Given the description of an element on the screen output the (x, y) to click on. 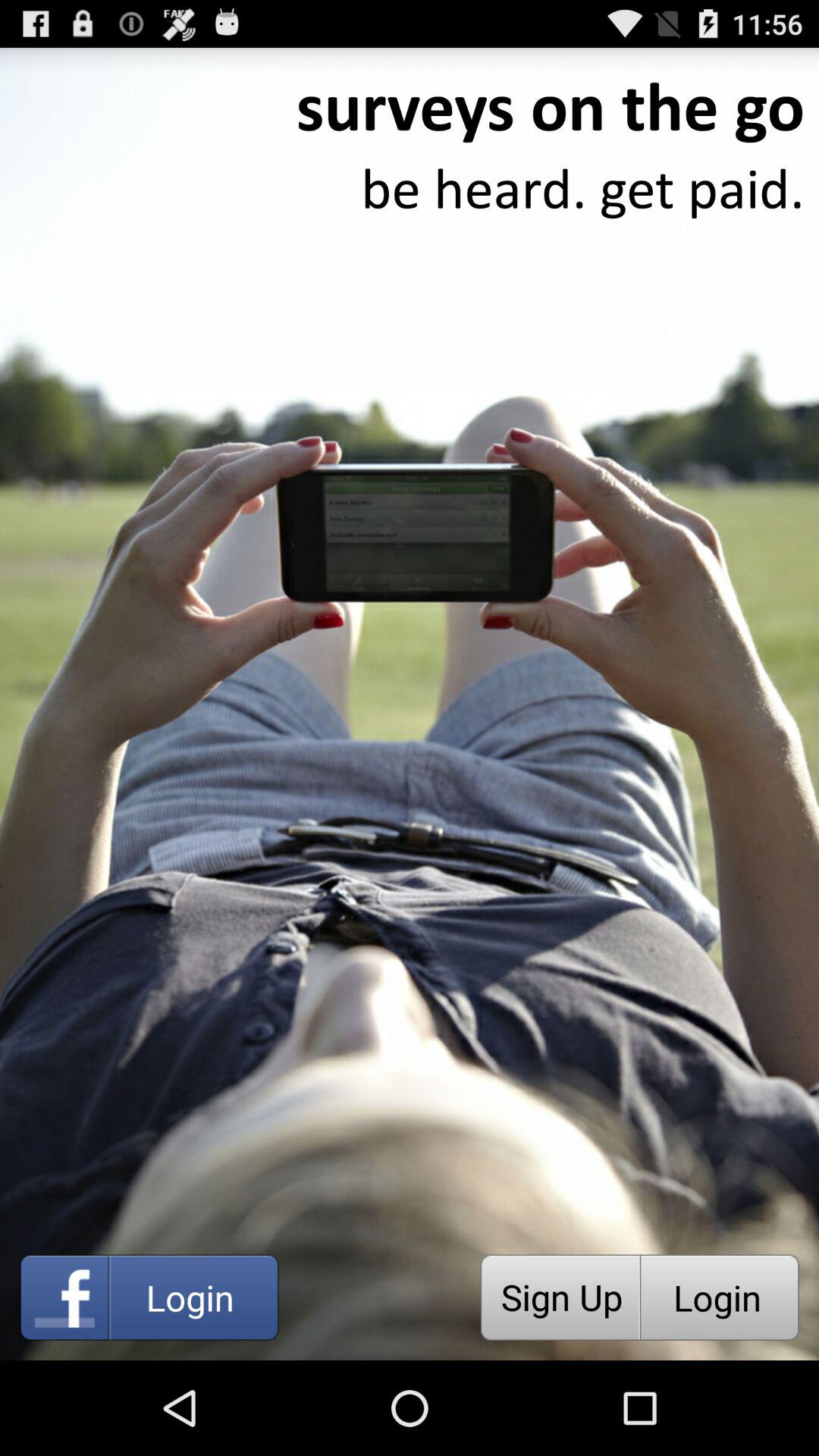
tap the sign up icon (559, 1297)
